Given the description of an element on the screen output the (x, y) to click on. 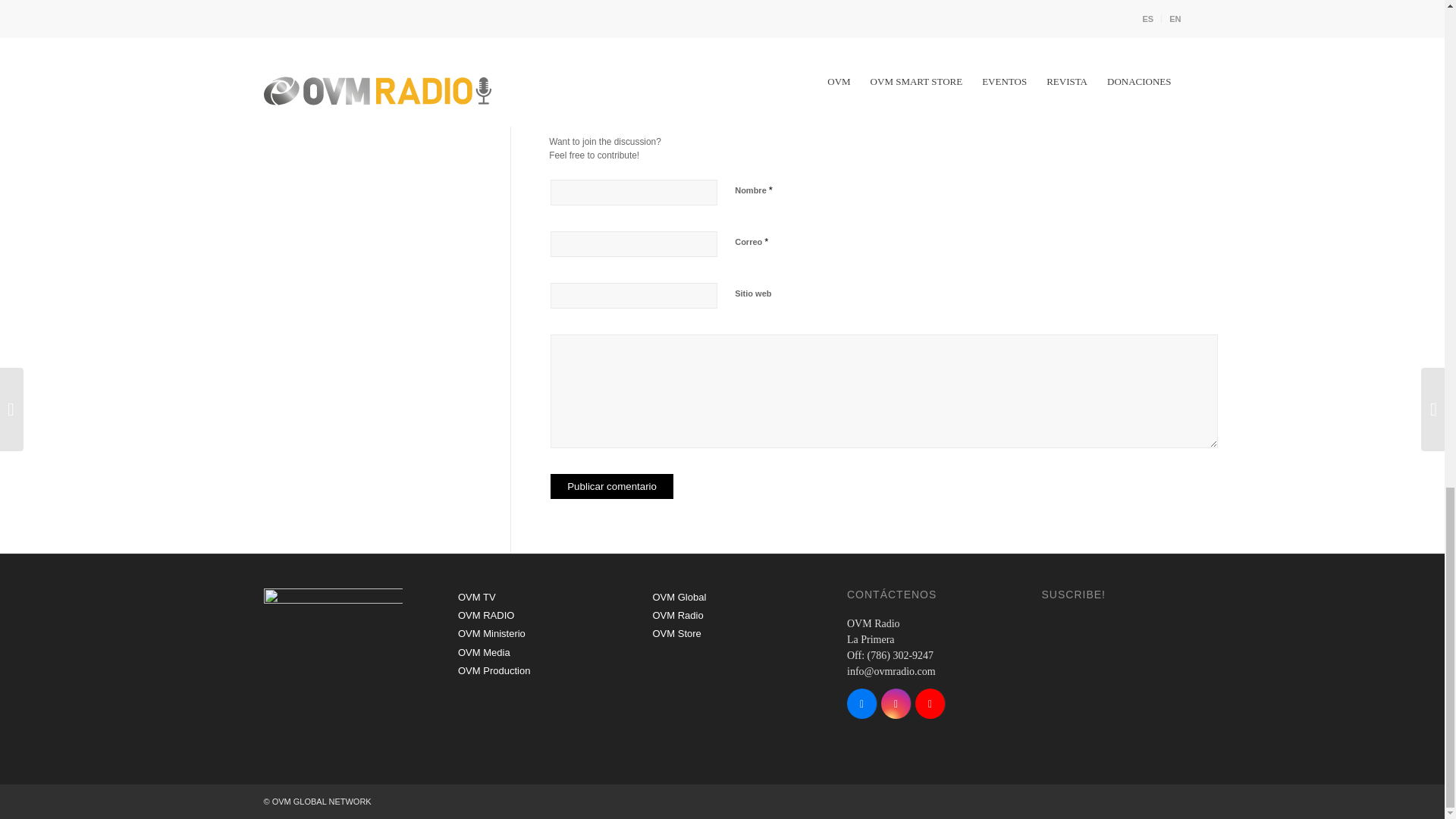
Publicar comentario (611, 486)
Instagram (895, 703)
Youtube (929, 703)
Publicar comentario (611, 486)
Facebook (861, 703)
